Given the description of an element on the screen output the (x, y) to click on. 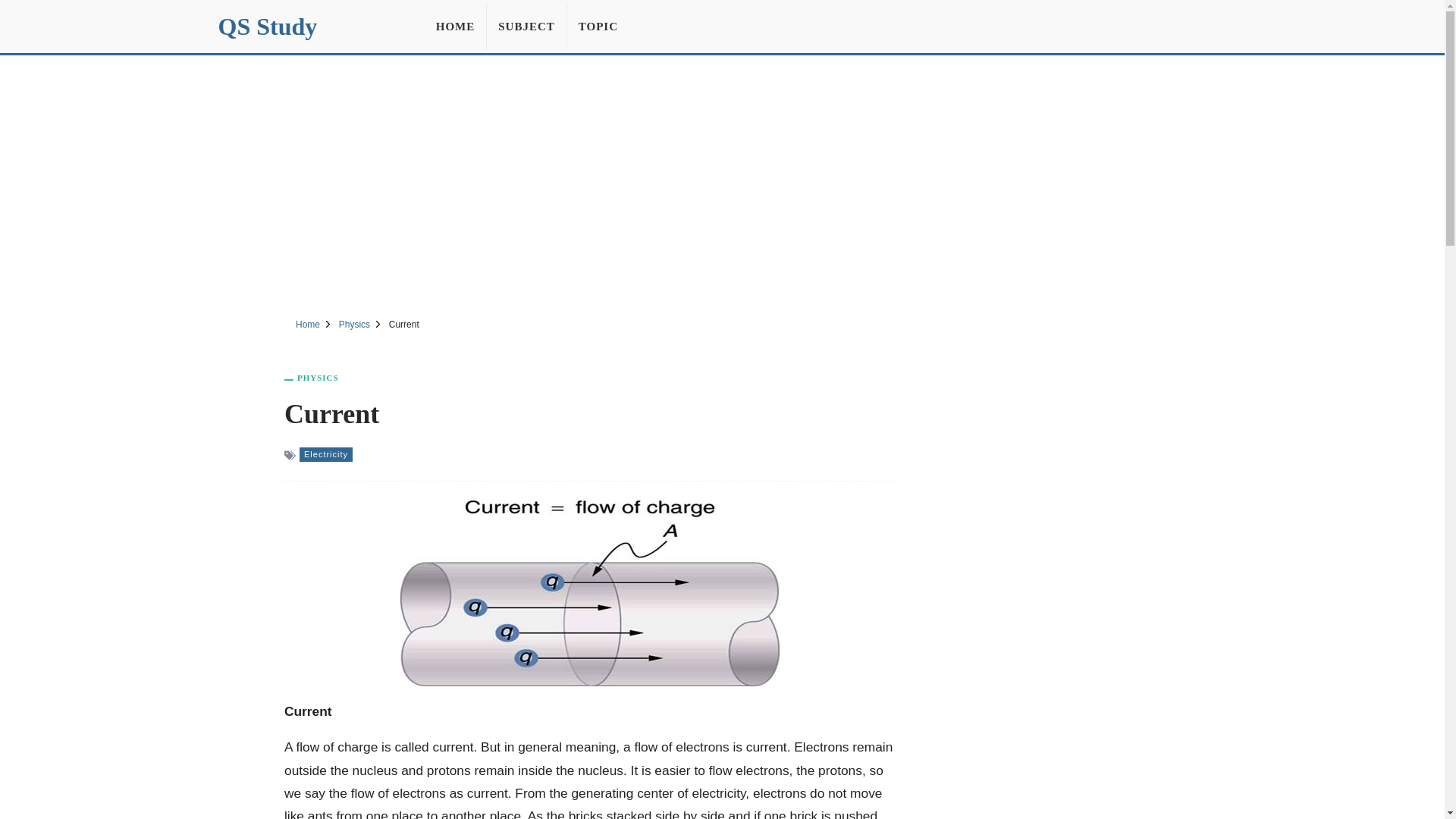
PHYSICS (318, 377)
Physics (354, 324)
HOME (455, 26)
Subject (526, 26)
SUBJECT (526, 26)
Home (307, 324)
Topic (597, 26)
Electricity (325, 454)
QS Study (267, 25)
TOPIC (597, 26)
Physics (318, 377)
Electricity (325, 454)
